Given the description of an element on the screen output the (x, y) to click on. 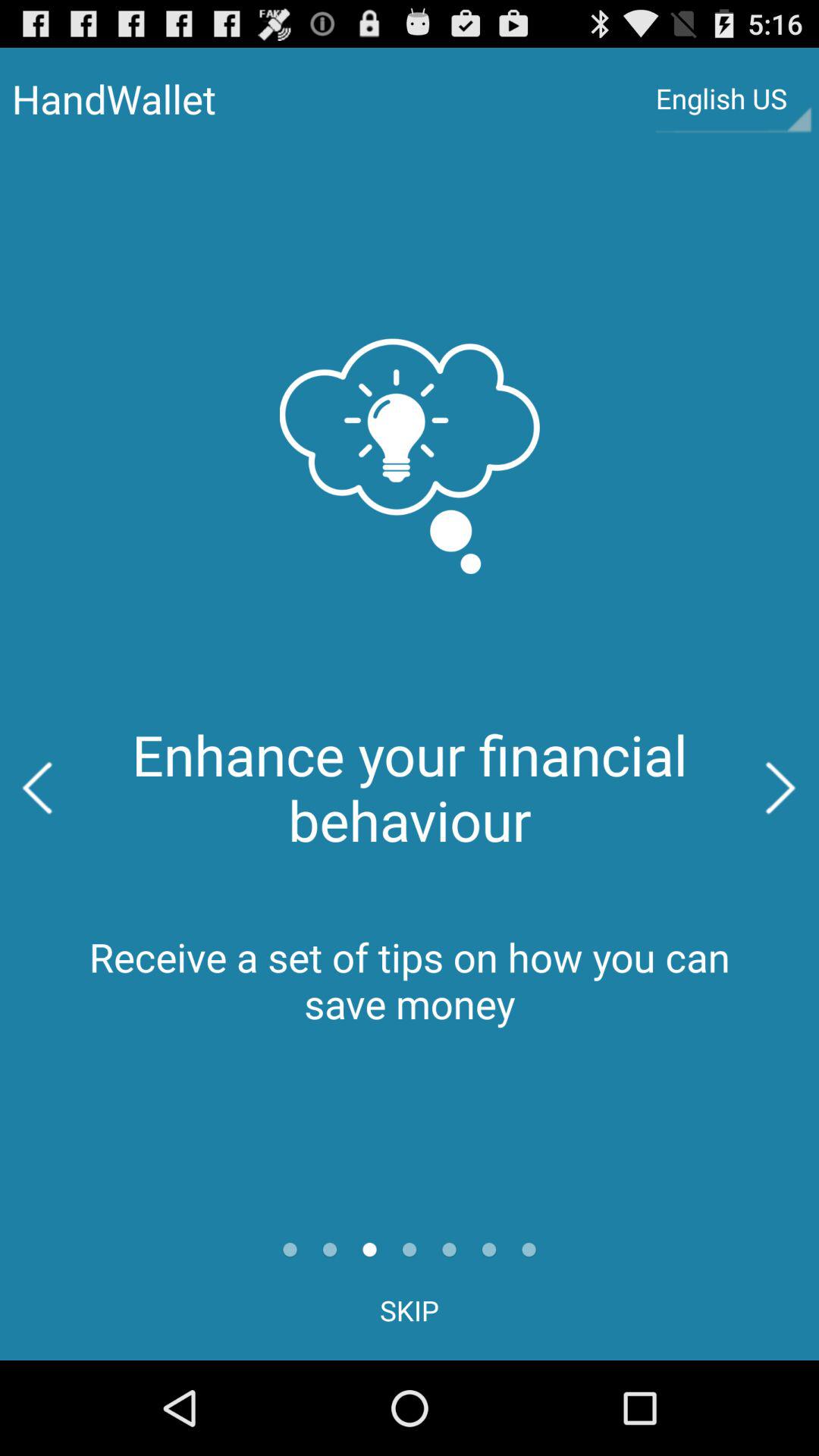
go to previous (37, 787)
